Given the description of an element on the screen output the (x, y) to click on. 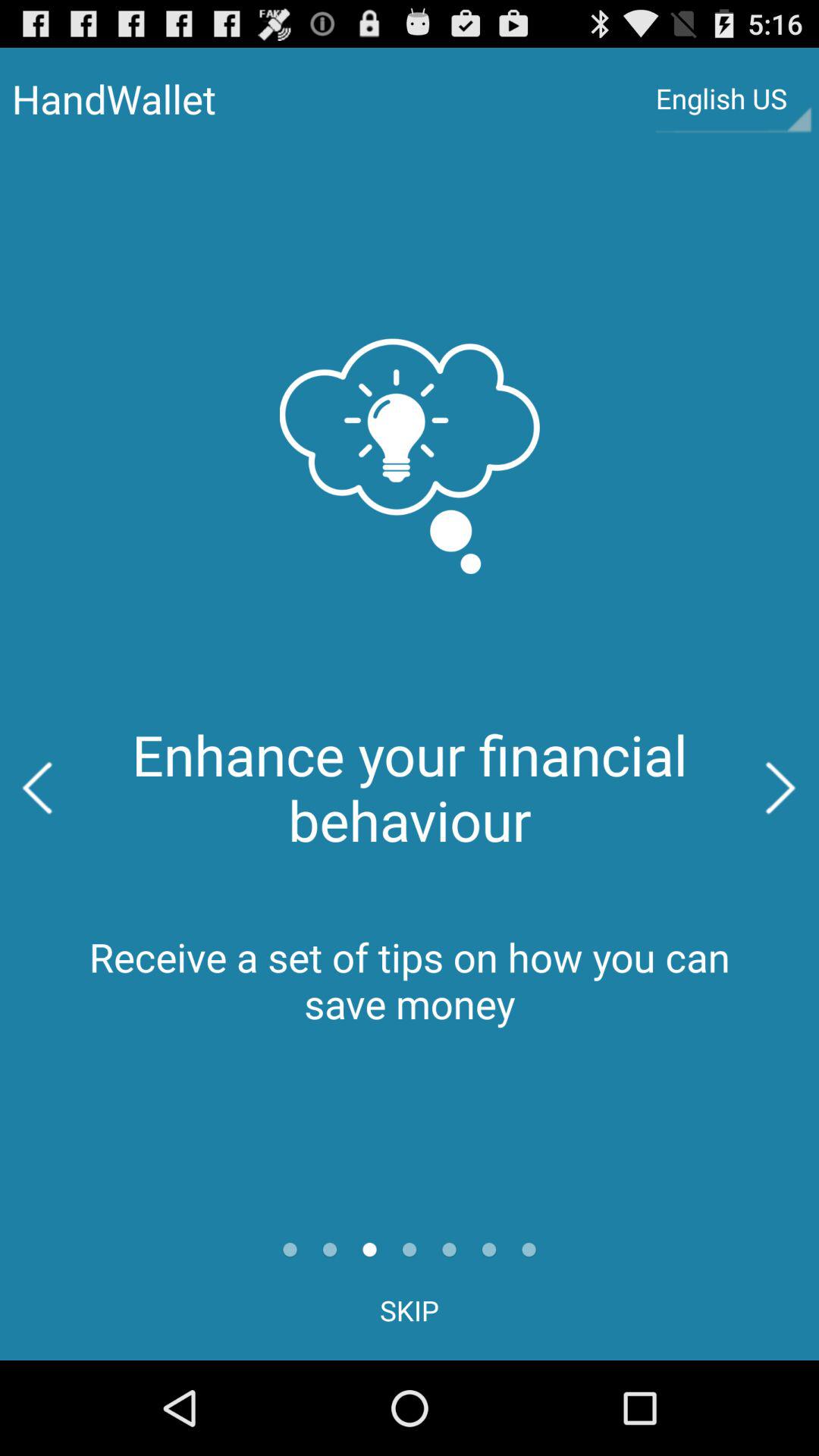
go to previous (37, 787)
